Given the description of an element on the screen output the (x, y) to click on. 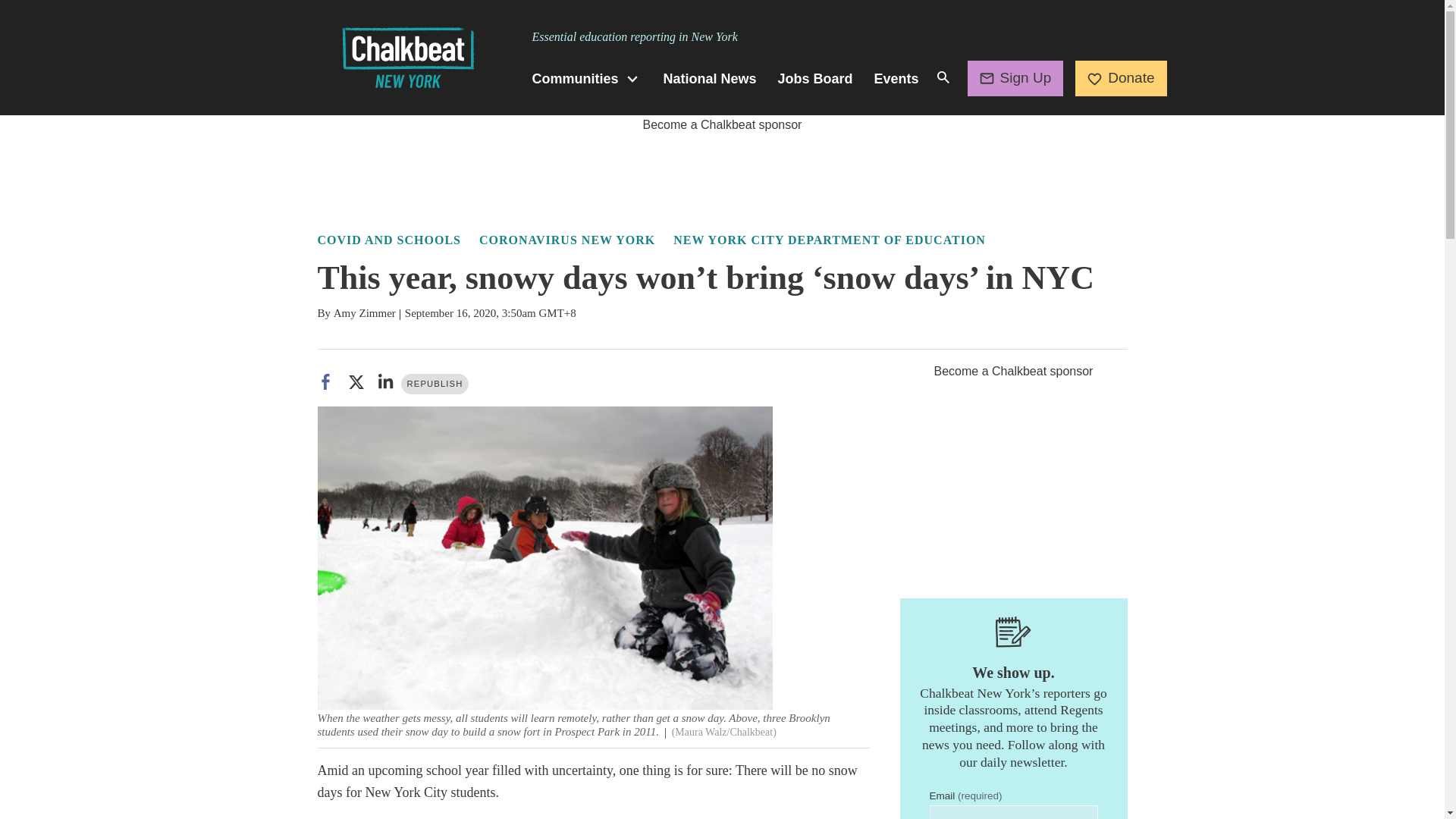
Donate (1120, 77)
REPUBLISH (434, 383)
Become a Chalkbeat sponsor (722, 124)
Jobs Board (815, 79)
Sign Up (1016, 77)
NEW YORK CITY DEPARTMENT OF EDUCATION (828, 239)
Amy Zimmer (364, 313)
National News (710, 79)
COVID AND SCHOOLS (388, 239)
Events (896, 79)
